Given the description of an element on the screen output the (x, y) to click on. 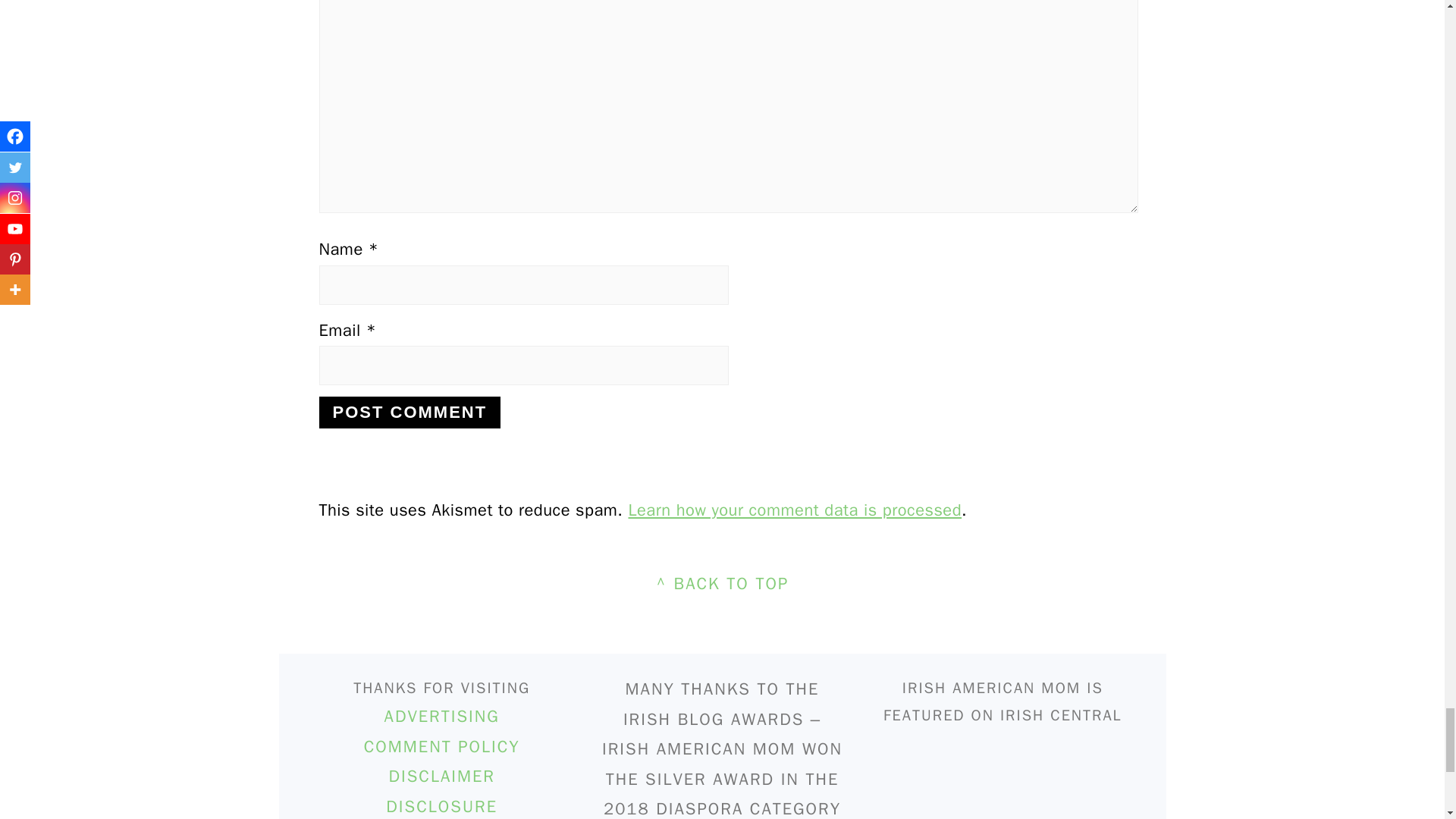
Post Comment (409, 412)
